Given the description of an element on the screen output the (x, y) to click on. 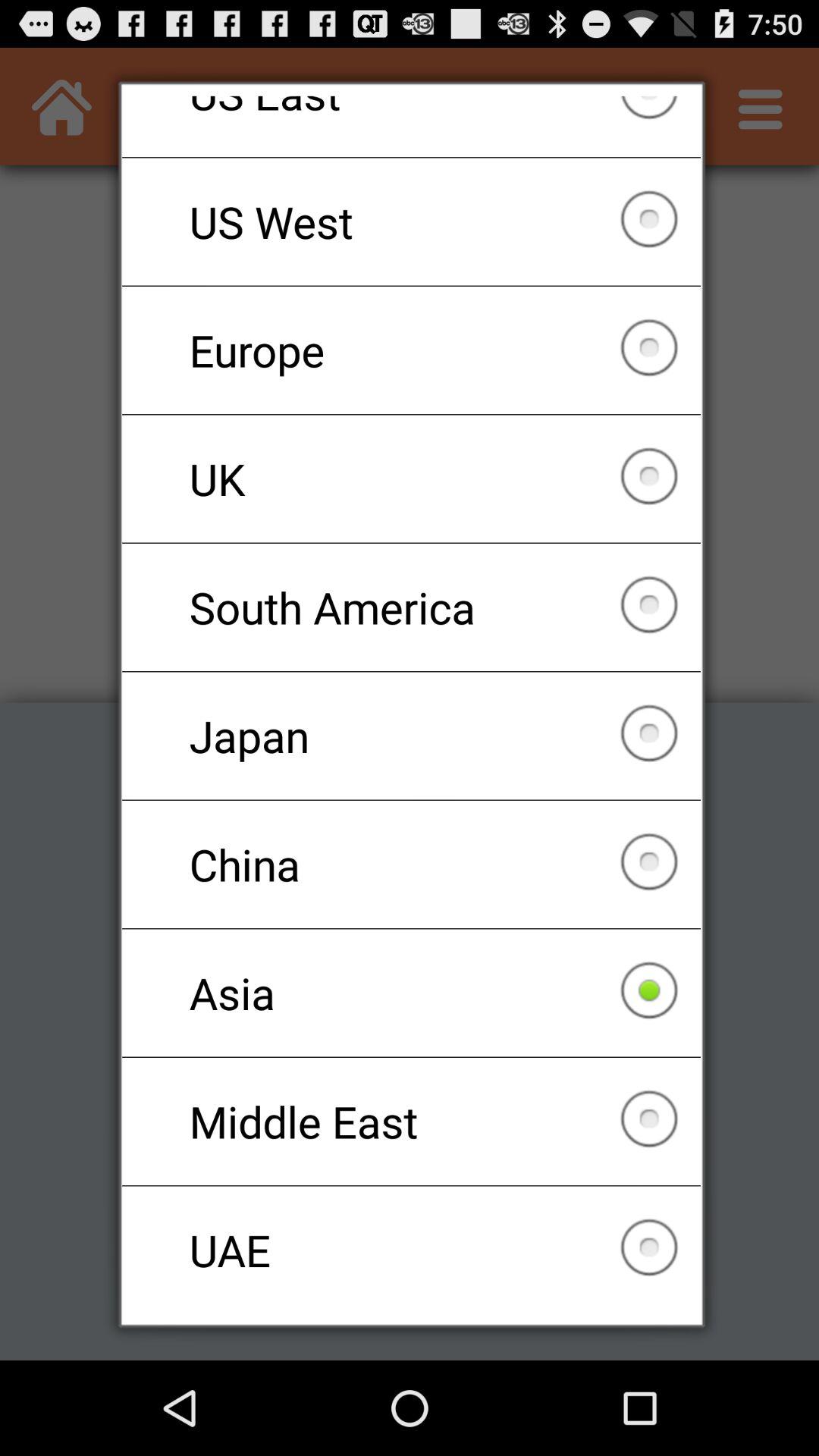
press item above     middle east checkbox (411, 992)
